Given the description of an element on the screen output the (x, y) to click on. 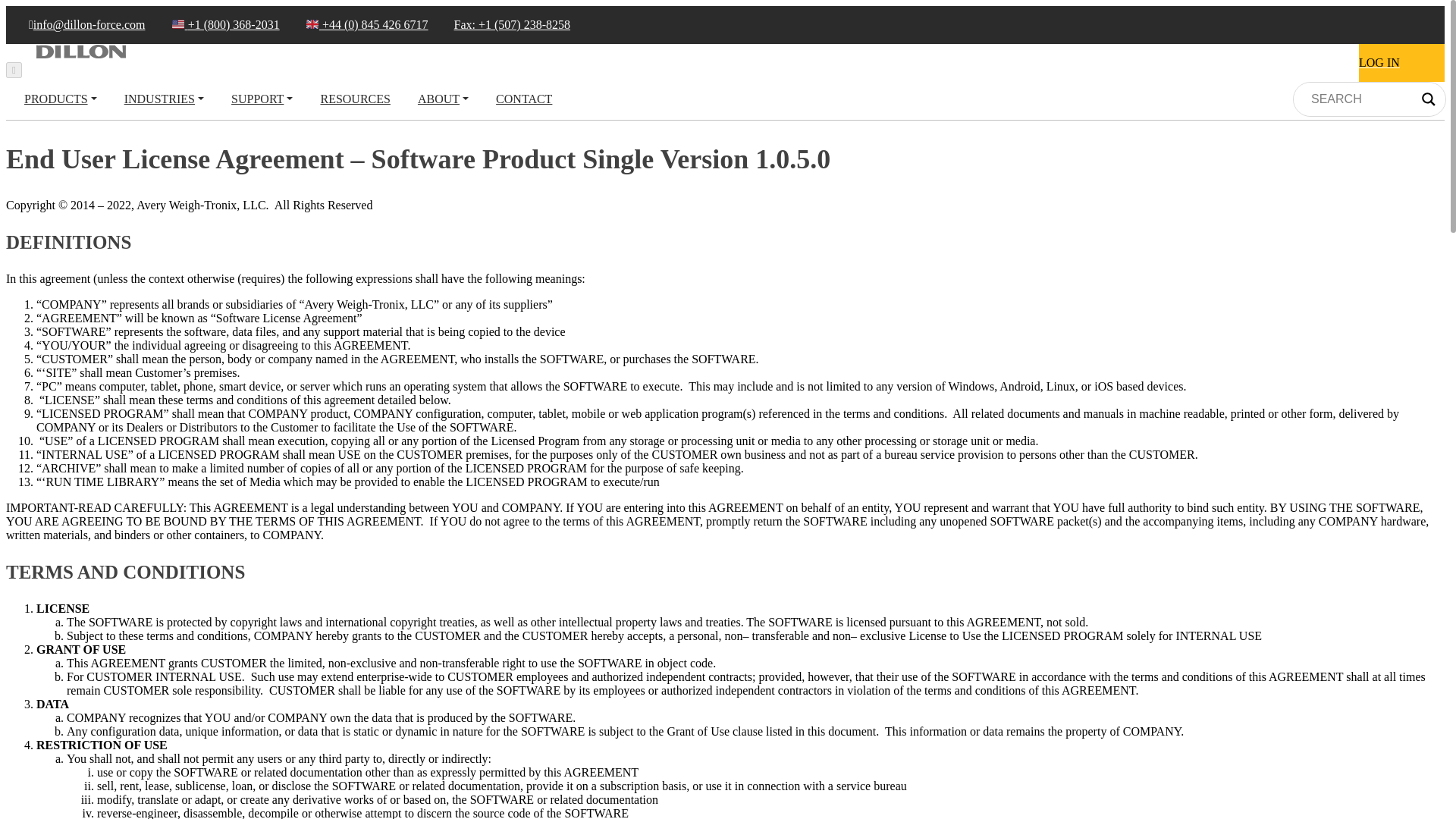
SUPPORT (261, 99)
ABOUT (443, 99)
Dillon Fax Number (500, 24)
PRODUCTS (60, 99)
Dillon ENG Phone Number (355, 24)
Info Email (74, 24)
Dillon USA Phone Number (213, 24)
INDUSTRIES (163, 99)
RESOURCES (355, 99)
